Given the description of an element on the screen output the (x, y) to click on. 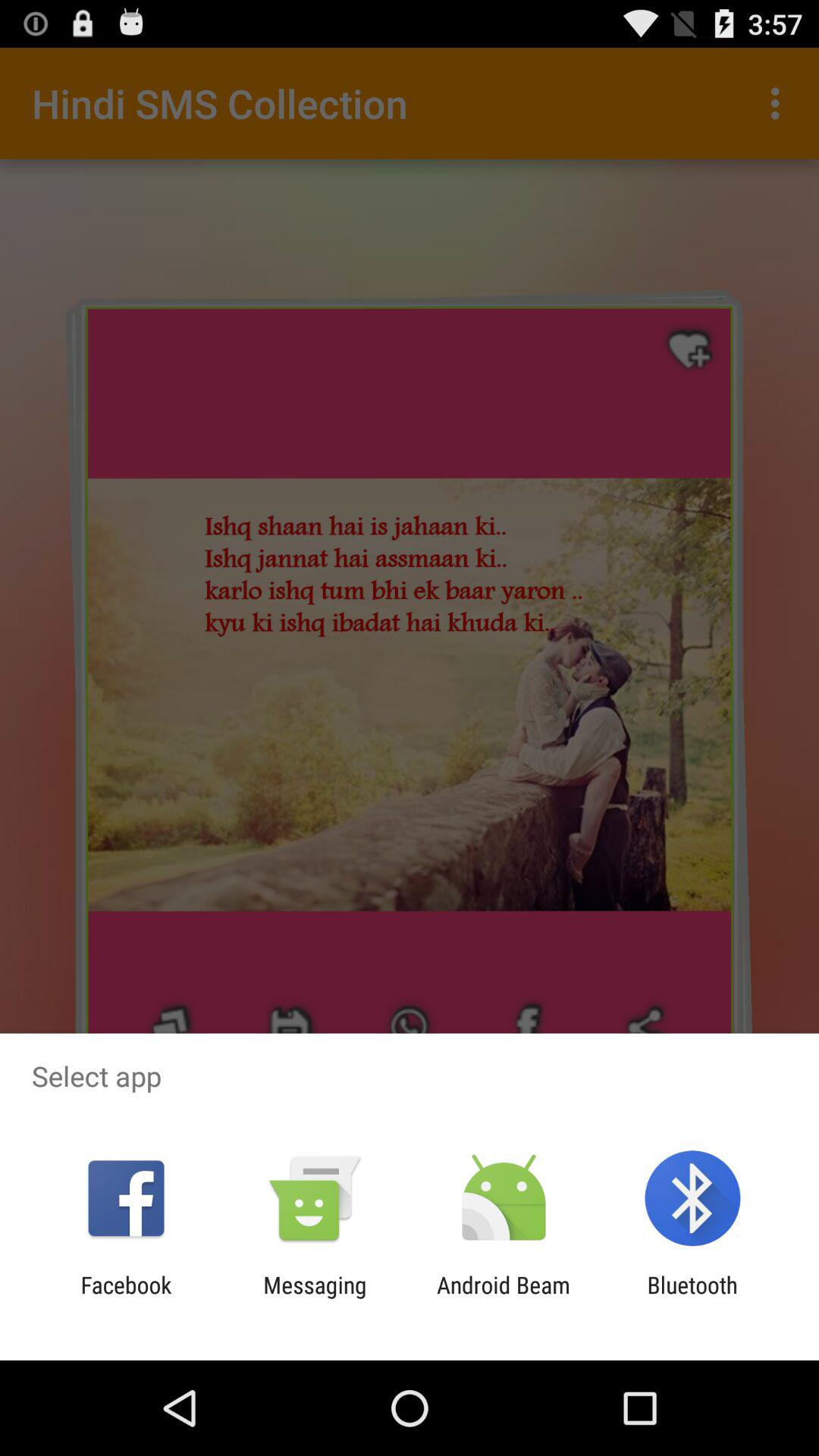
press the bluetooth app (692, 1298)
